Given the description of an element on the screen output the (x, y) to click on. 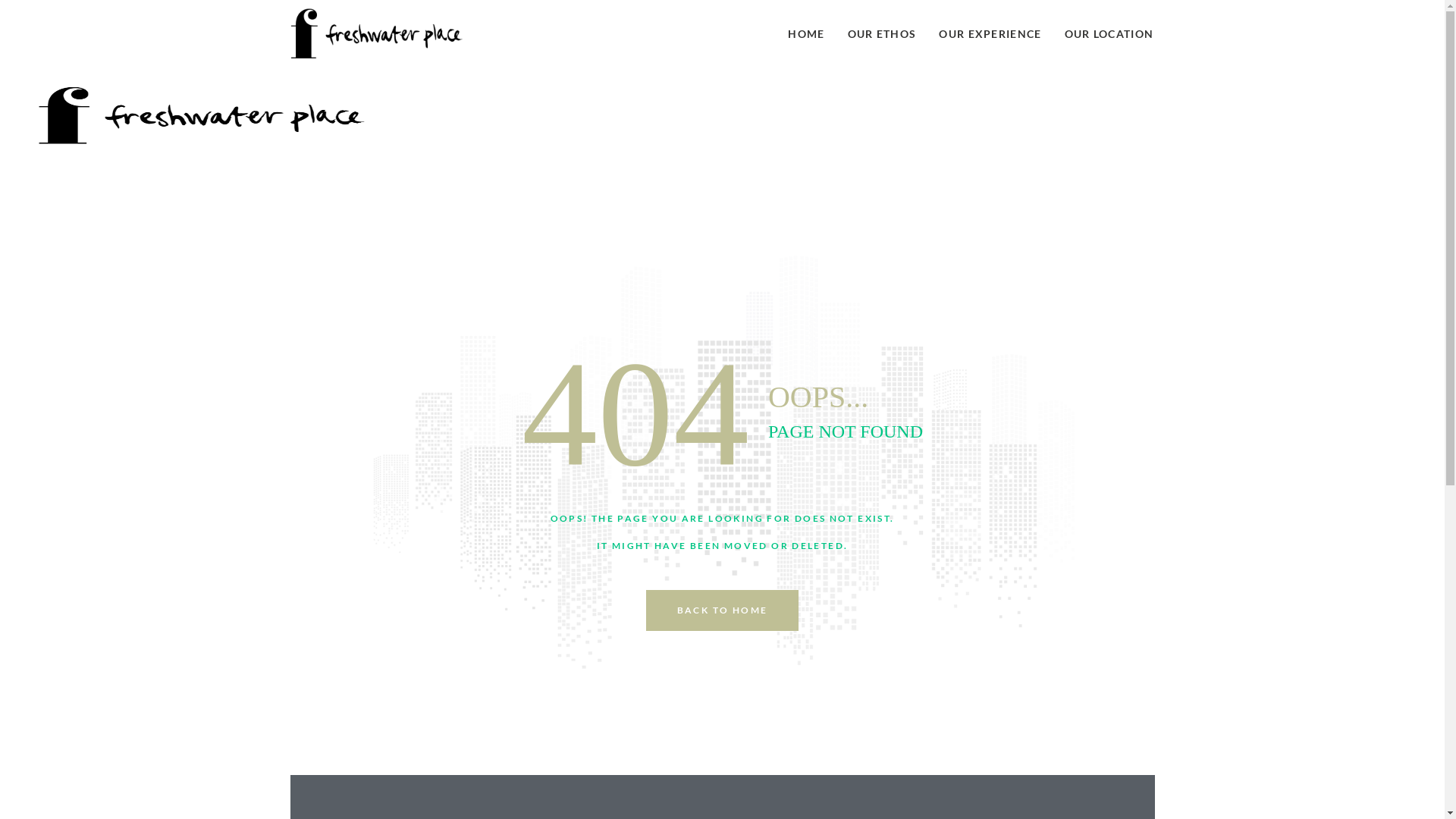
OUR ETHOS Element type: text (881, 33)
OUR EXPERIENCE Element type: text (989, 33)
FRESHWATER PLACE Element type: text (432, 107)
BACK TO HOME Element type: text (722, 609)
HOME Element type: text (805, 33)
OUR LOCATION Element type: text (1109, 33)
